Given the description of an element on the screen output the (x, y) to click on. 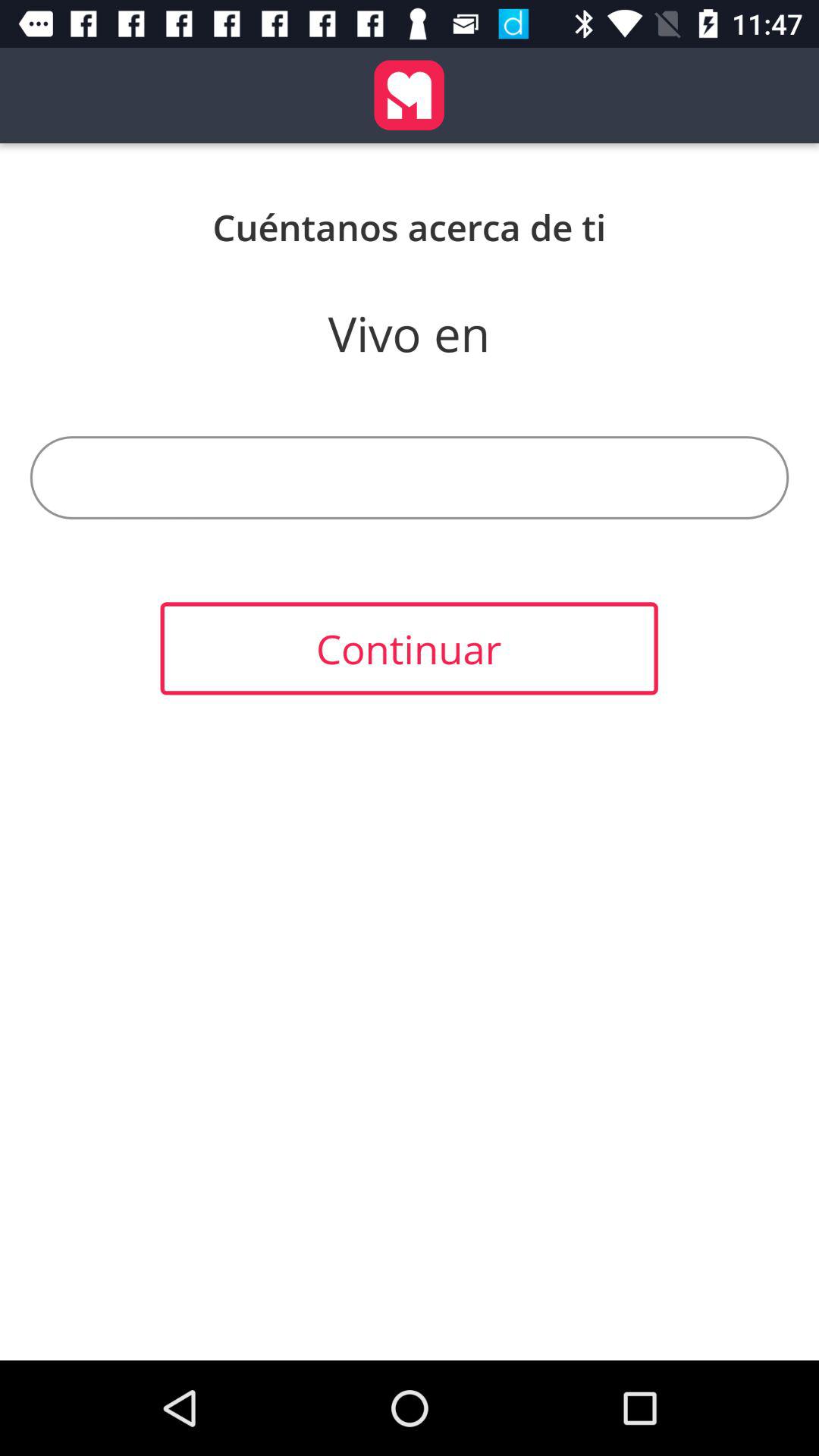
open item above continuar item (409, 477)
